Given the description of an element on the screen output the (x, y) to click on. 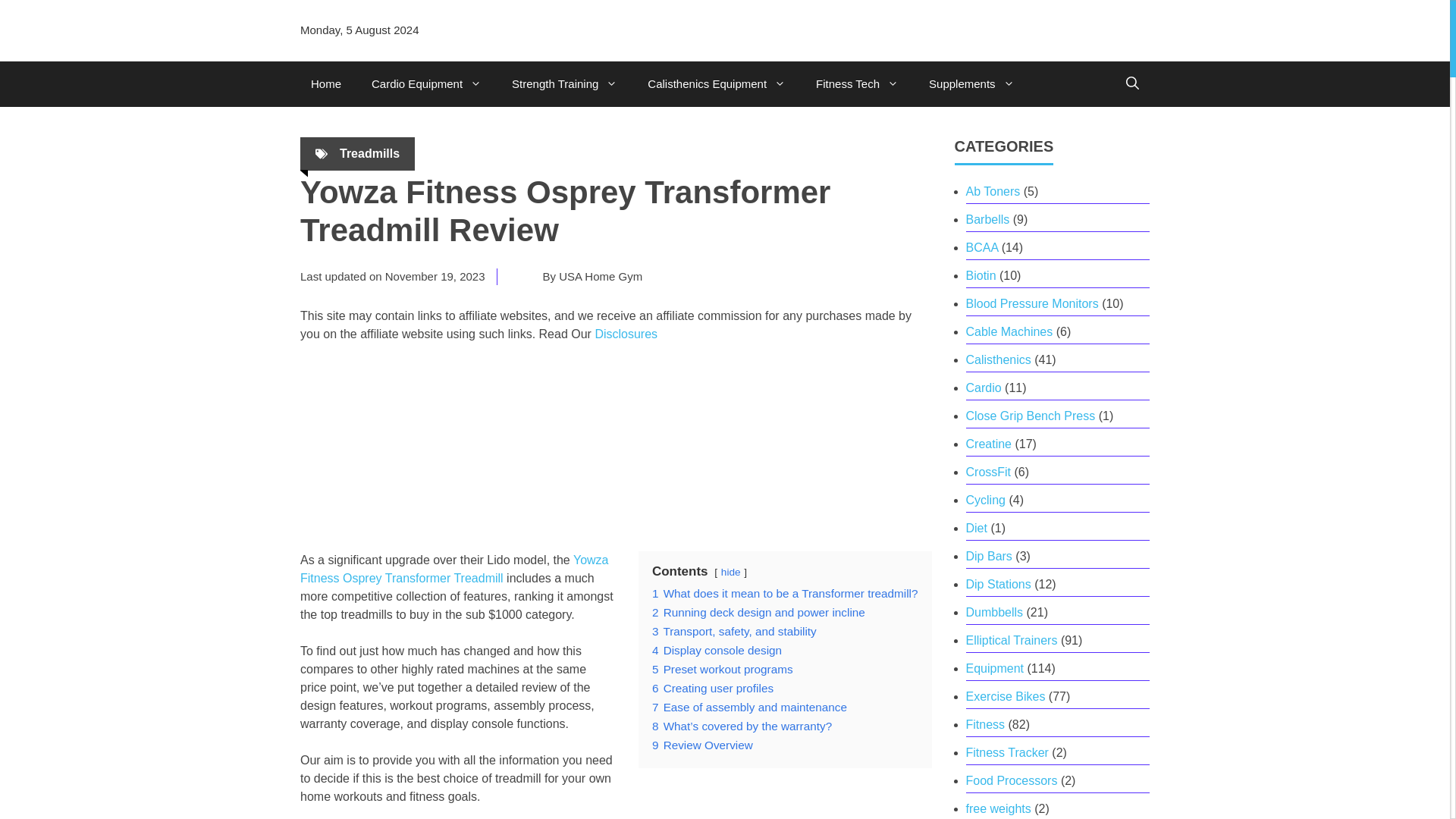
Home (325, 84)
Cardio Equipment (426, 84)
Supplements (971, 84)
Read more (453, 568)
Strength Training (563, 84)
Calisthenics Equipment (715, 84)
Fitness Tech (857, 84)
